Given the description of an element on the screen output the (x, y) to click on. 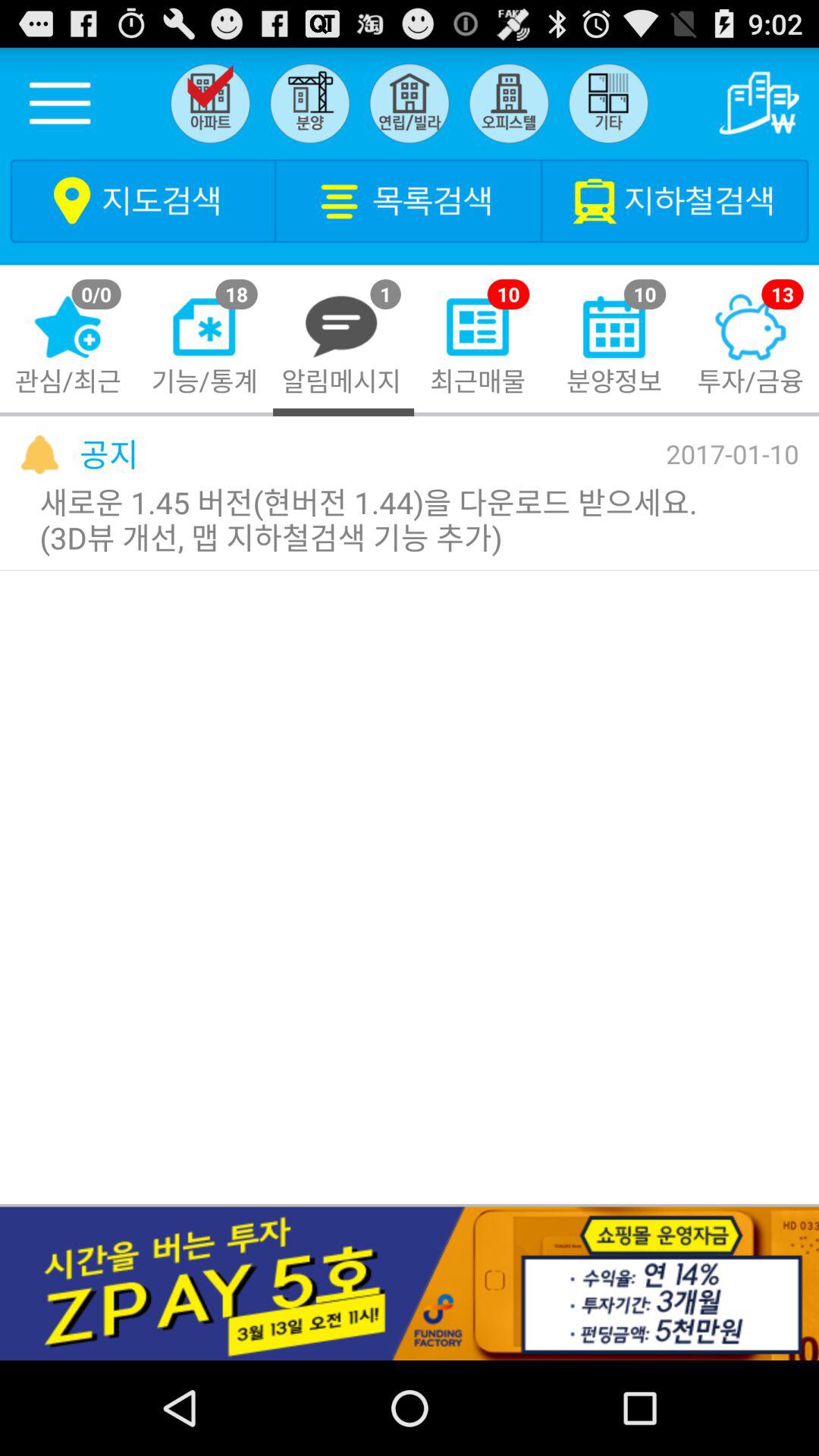
launch the item next to the 2017-01-10 icon (108, 453)
